Given the description of an element on the screen output the (x, y) to click on. 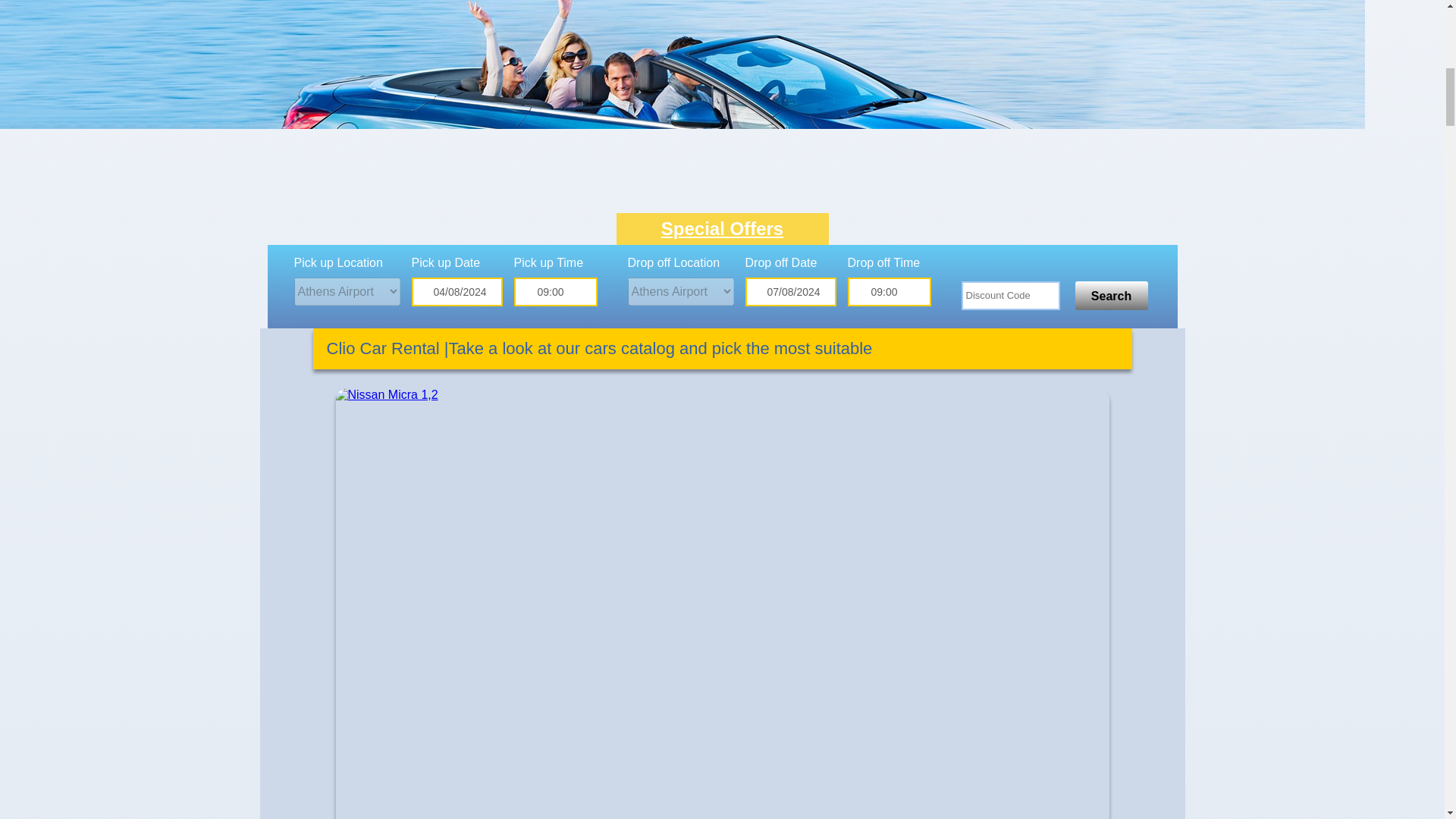
09:00 (889, 291)
09:00 (554, 291)
Special Offers (722, 228)
Search (1111, 295)
Search (1111, 295)
